Given the description of an element on the screen output the (x, y) to click on. 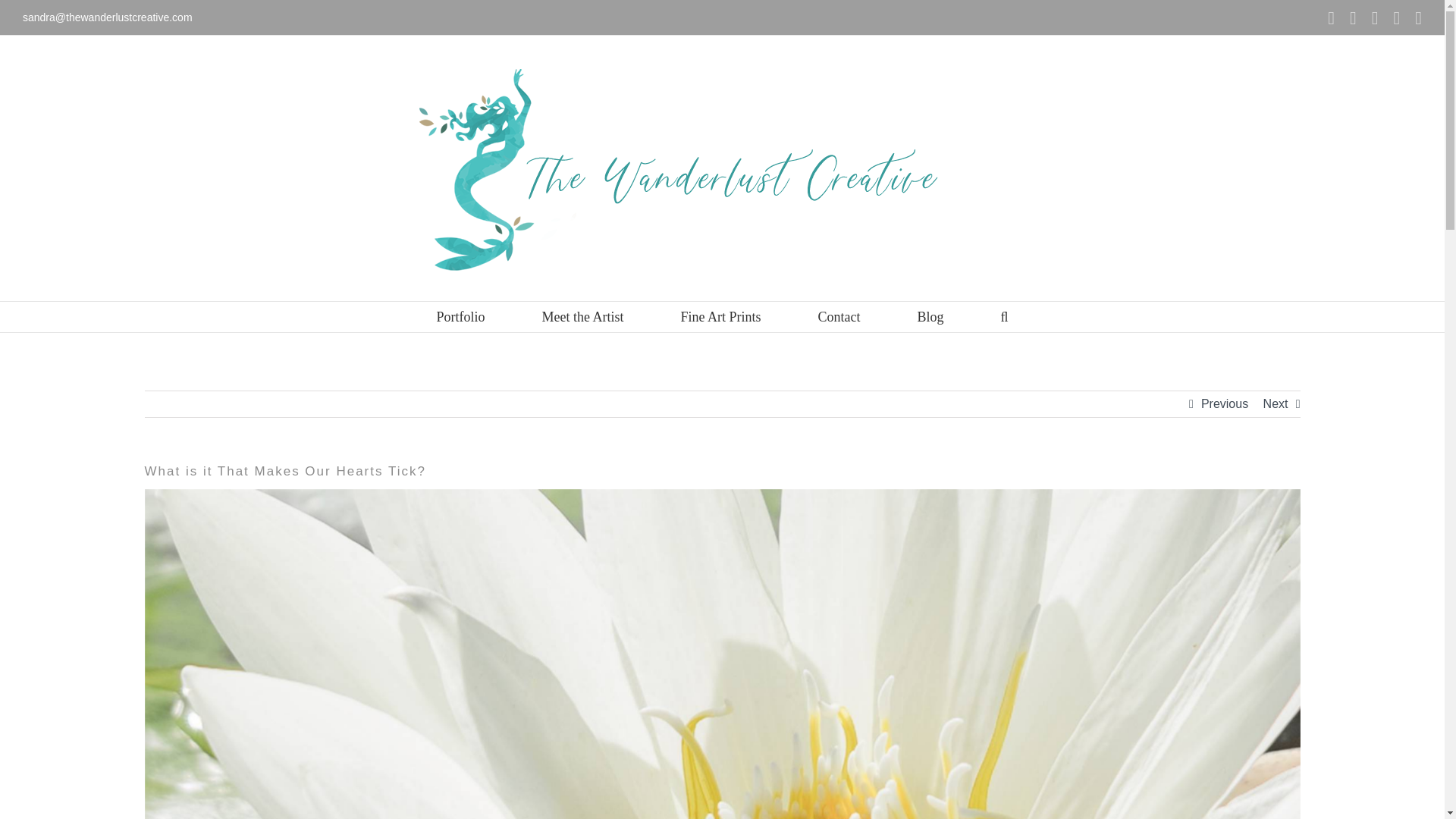
Meet the Artist (582, 317)
Portfolio (459, 317)
Fine Art Prints (719, 317)
Contact (838, 317)
